Given the description of an element on the screen output the (x, y) to click on. 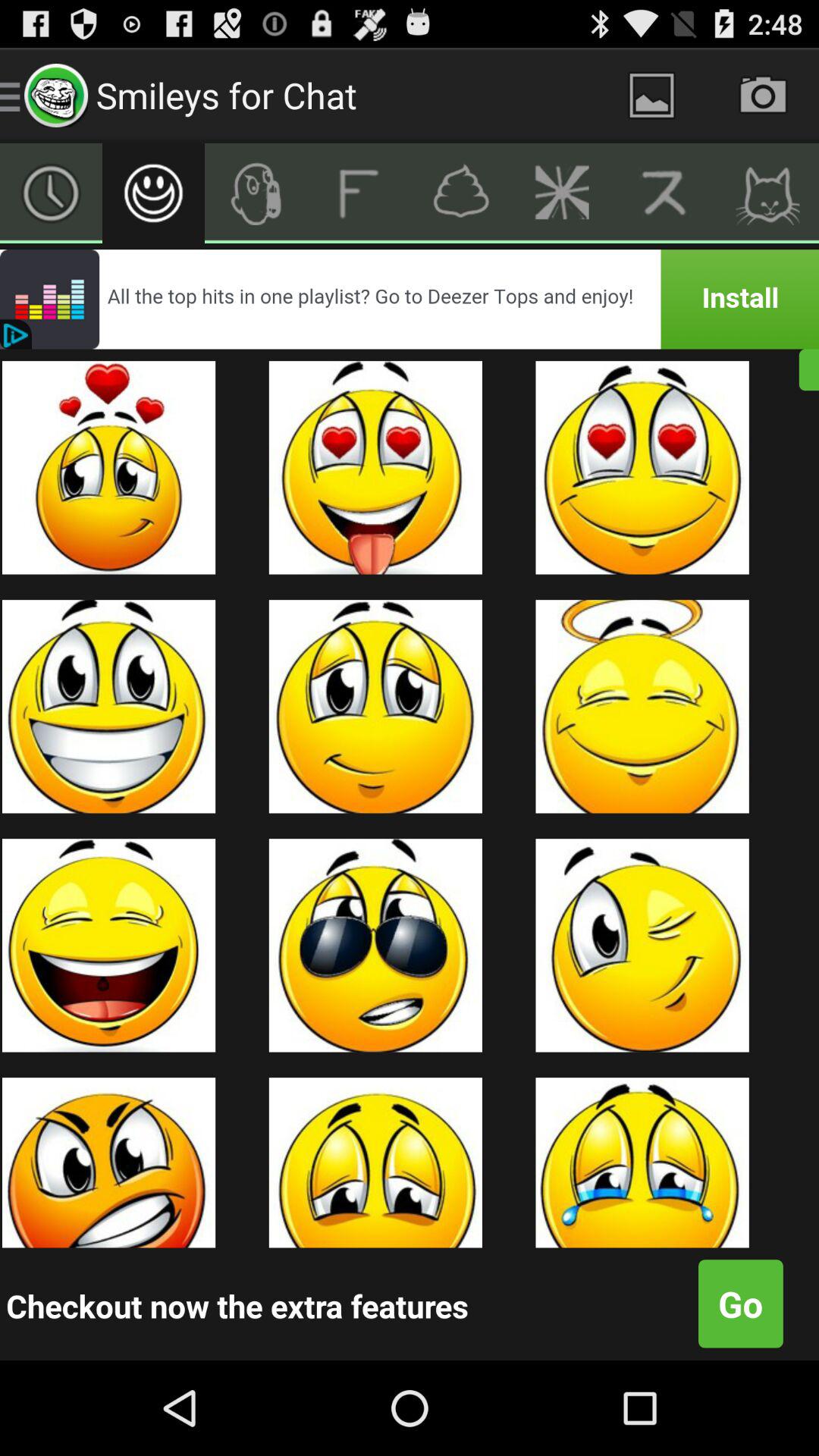
view advertisement (409, 299)
